Given the description of an element on the screen output the (x, y) to click on. 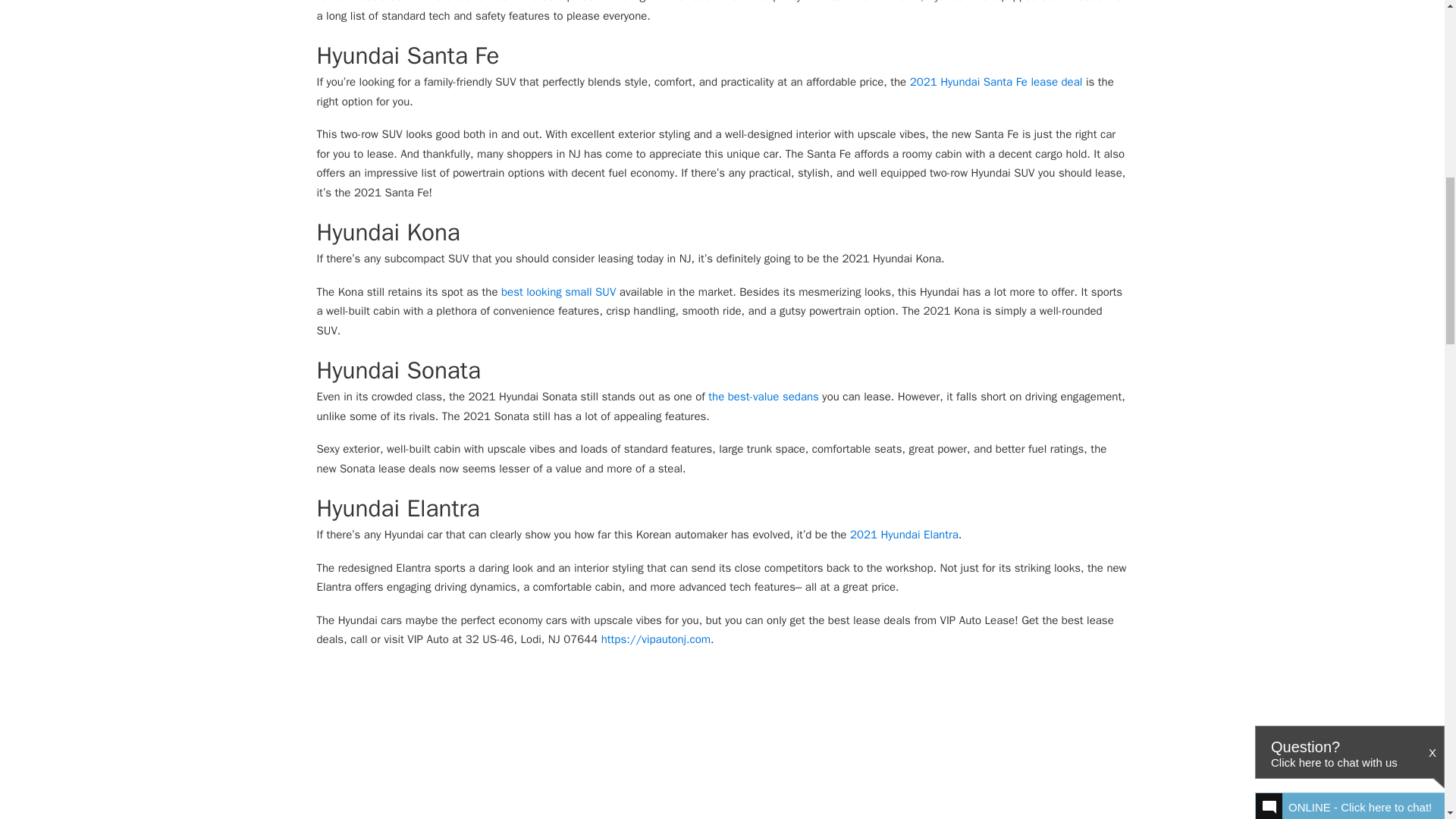
the best-value sedans (762, 396)
2021 Hyundai Santa Fe lease deal (996, 81)
2021 Hyundai Elantra (904, 534)
best looking small SUV (557, 291)
